Given the description of an element on the screen output the (x, y) to click on. 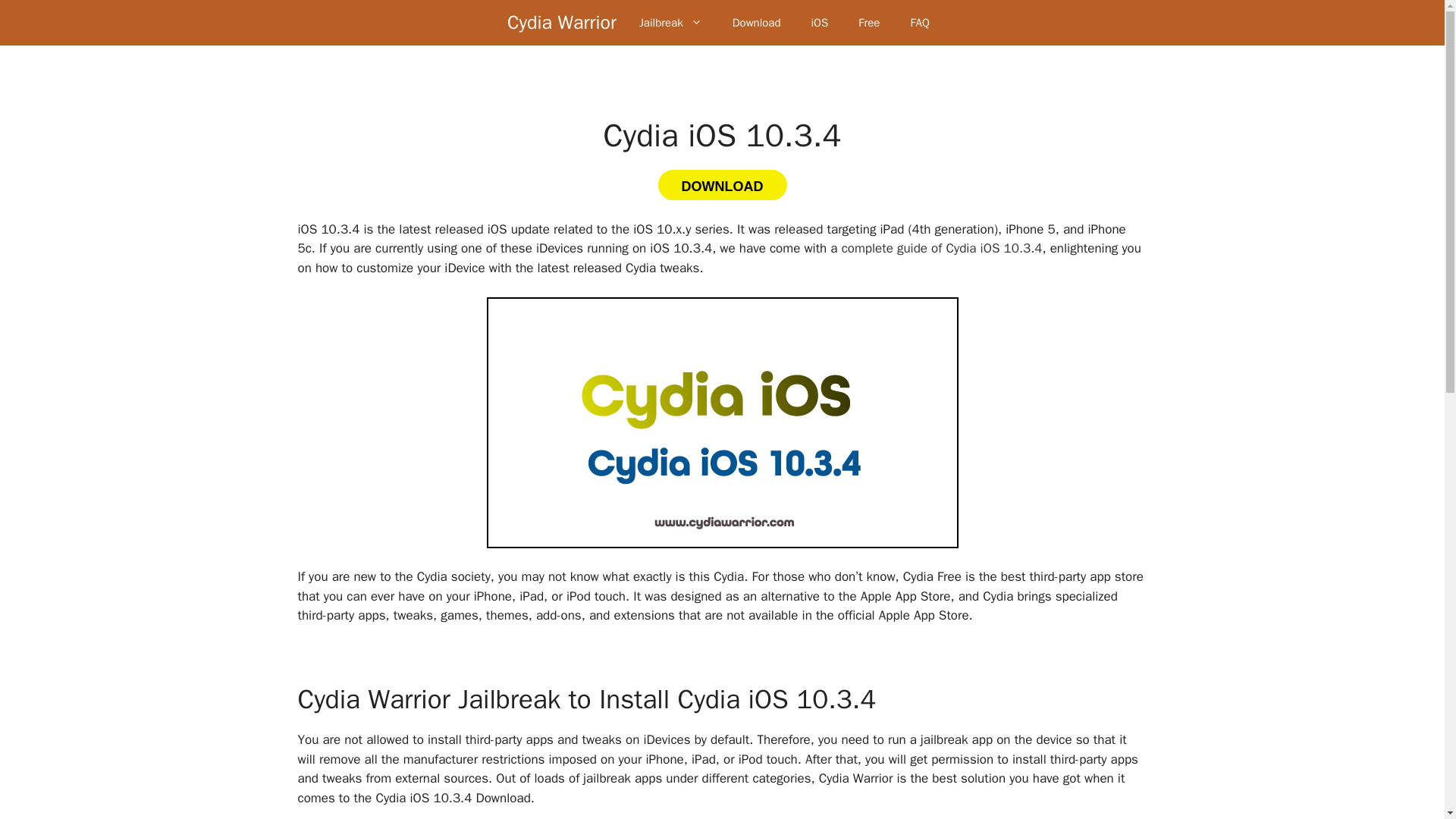
Jailbreak (670, 22)
complete guide of Cydia iOS 10.3.4 (941, 248)
FAQ (919, 22)
iOS (818, 22)
Cydia Warrior (560, 22)
DOWNLOAD (722, 184)
Free (869, 22)
Download (756, 22)
